Given the description of an element on the screen output the (x, y) to click on. 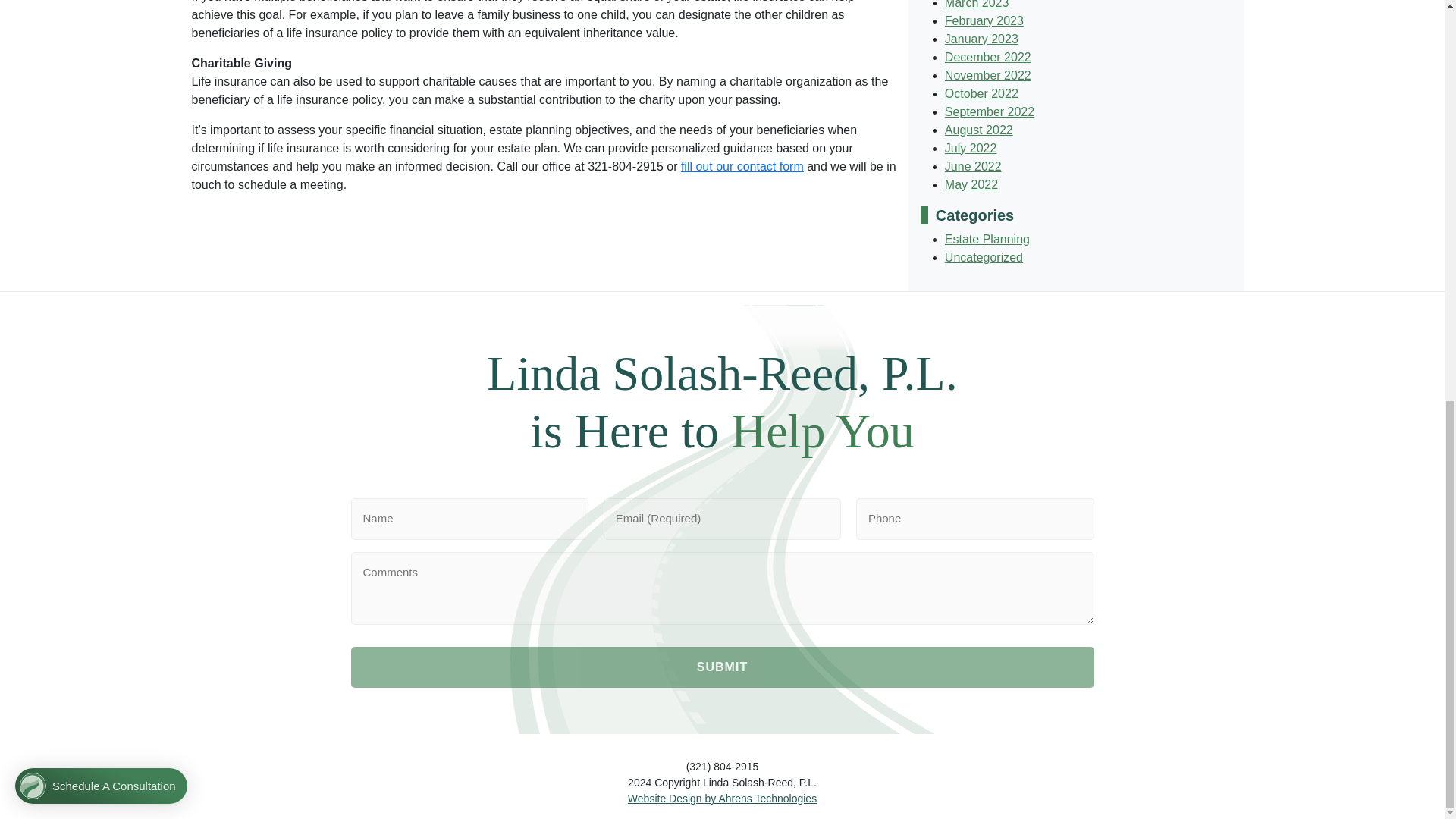
fill out our contact form (742, 165)
Submit (721, 667)
